Given the description of an element on the screen output the (x, y) to click on. 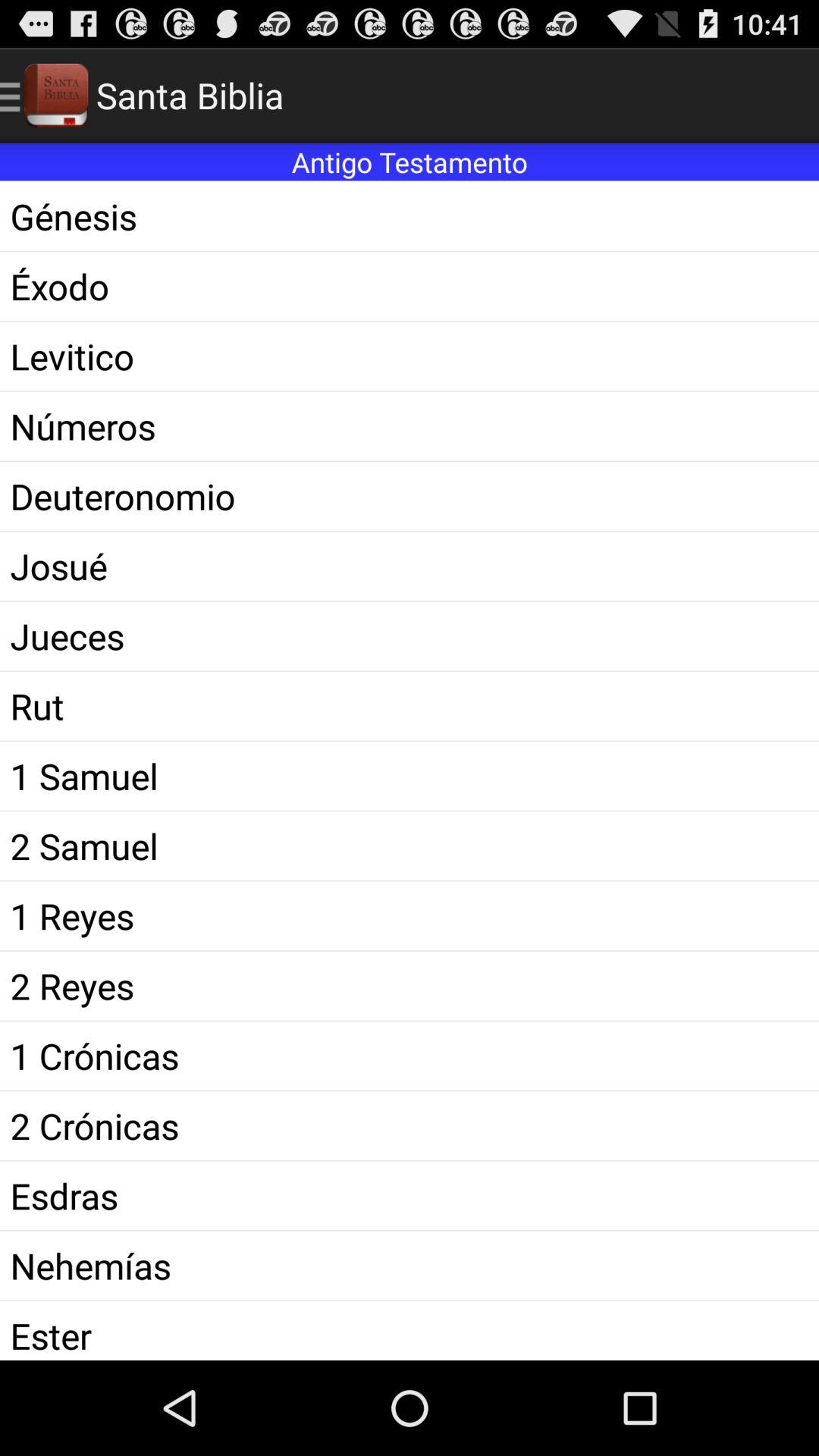
open the levitico (409, 355)
